Given the description of an element on the screen output the (x, y) to click on. 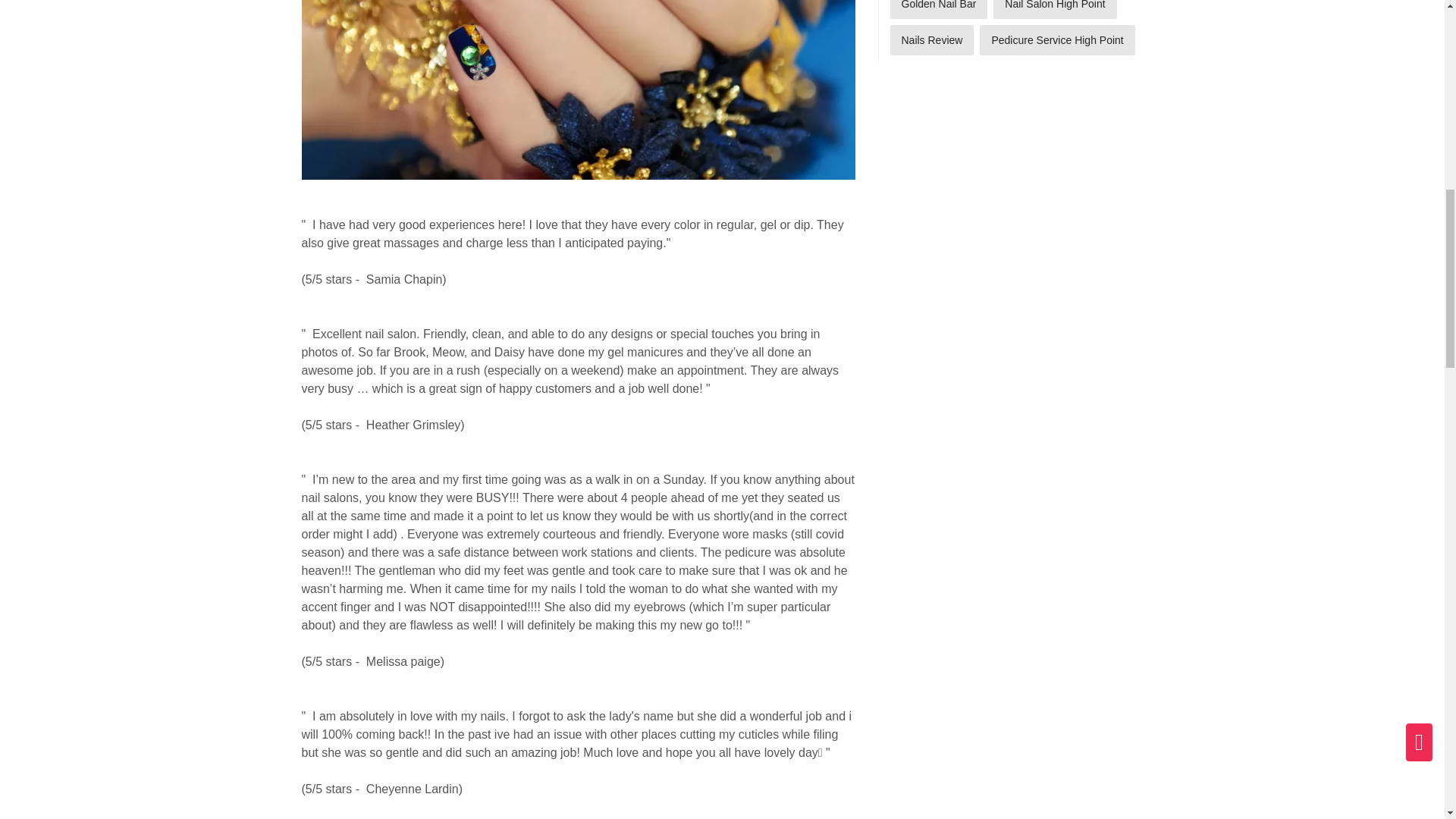
Pedicure Service High Point (1056, 40)
Nail Salon High Point (1054, 9)
Nails Review (931, 40)
Golden Nail Bar (938, 9)
